Given the description of an element on the screen output the (x, y) to click on. 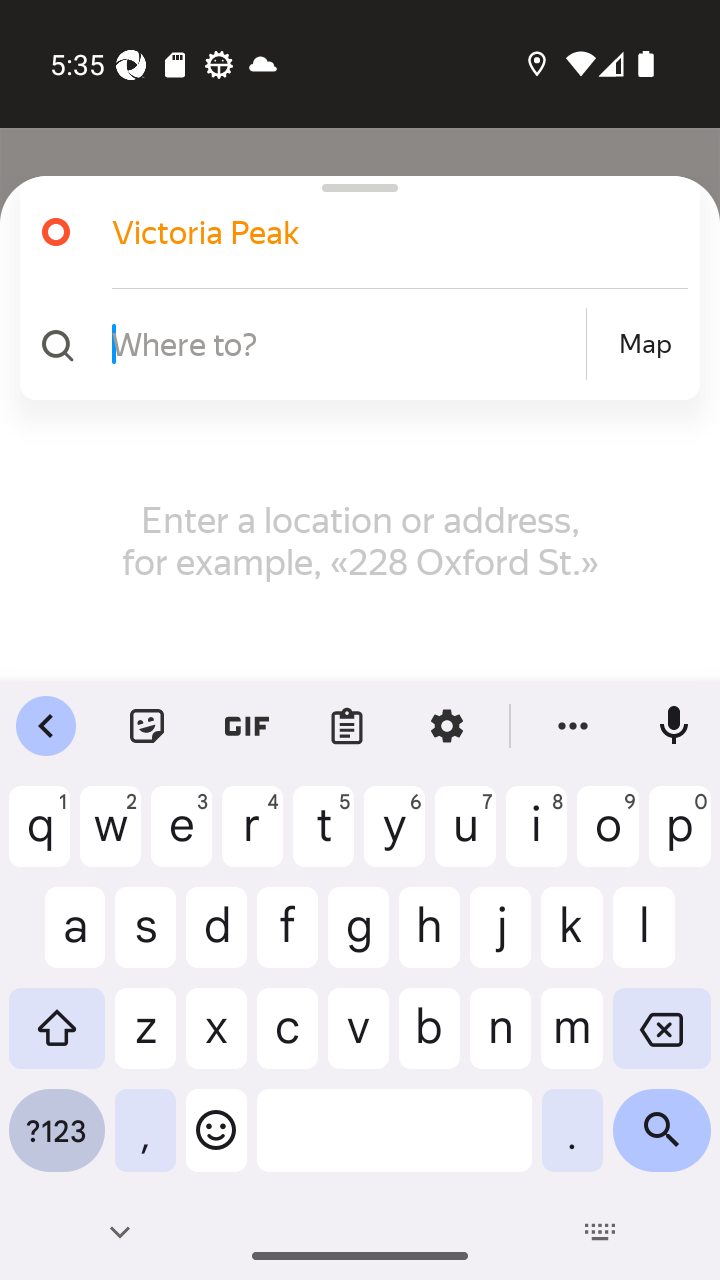
Victoria Peak (352, 232)
Victoria Peak (373, 232)
Where to? Map Map (352, 343)
Map (645, 343)
Where to? (346, 343)
